Given the description of an element on the screen output the (x, y) to click on. 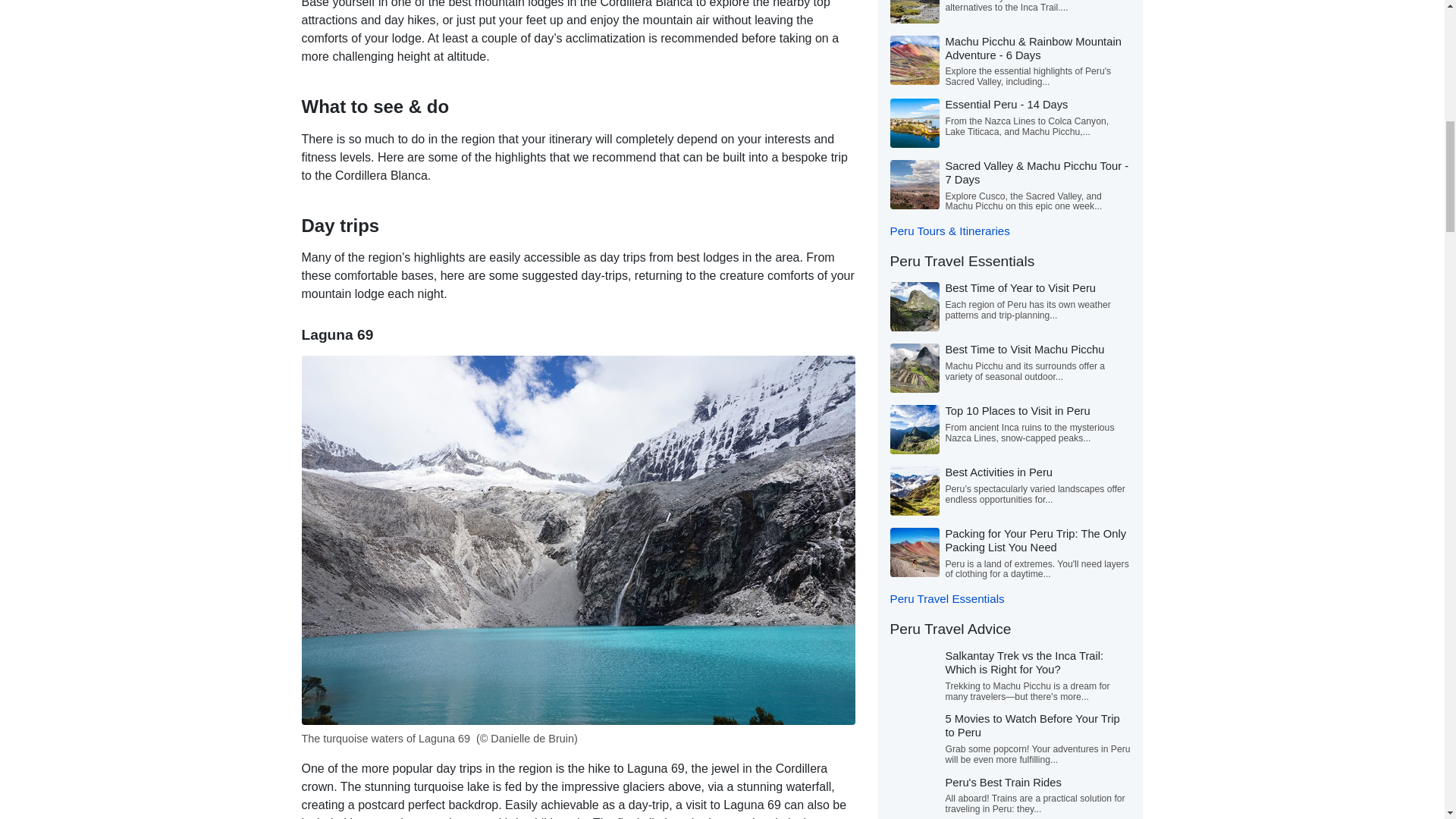
5 Movies to Watch Before Your Trip to Peru (1031, 725)
Top 10 Places to Visit in Peru (1016, 410)
Best Time to Visit Machu Picchu (1023, 349)
Essential Peru - 14 Days (1005, 104)
Best Time of Year to Visit Peru (1020, 287)
Packing for Your Peru Trip: The Only Packing List You Need (1034, 540)
Best Activities in Peru (998, 472)
Salkantay Trek vs the Inca Trail: Which is Right for You? (1023, 662)
